Given the description of an element on the screen output the (x, y) to click on. 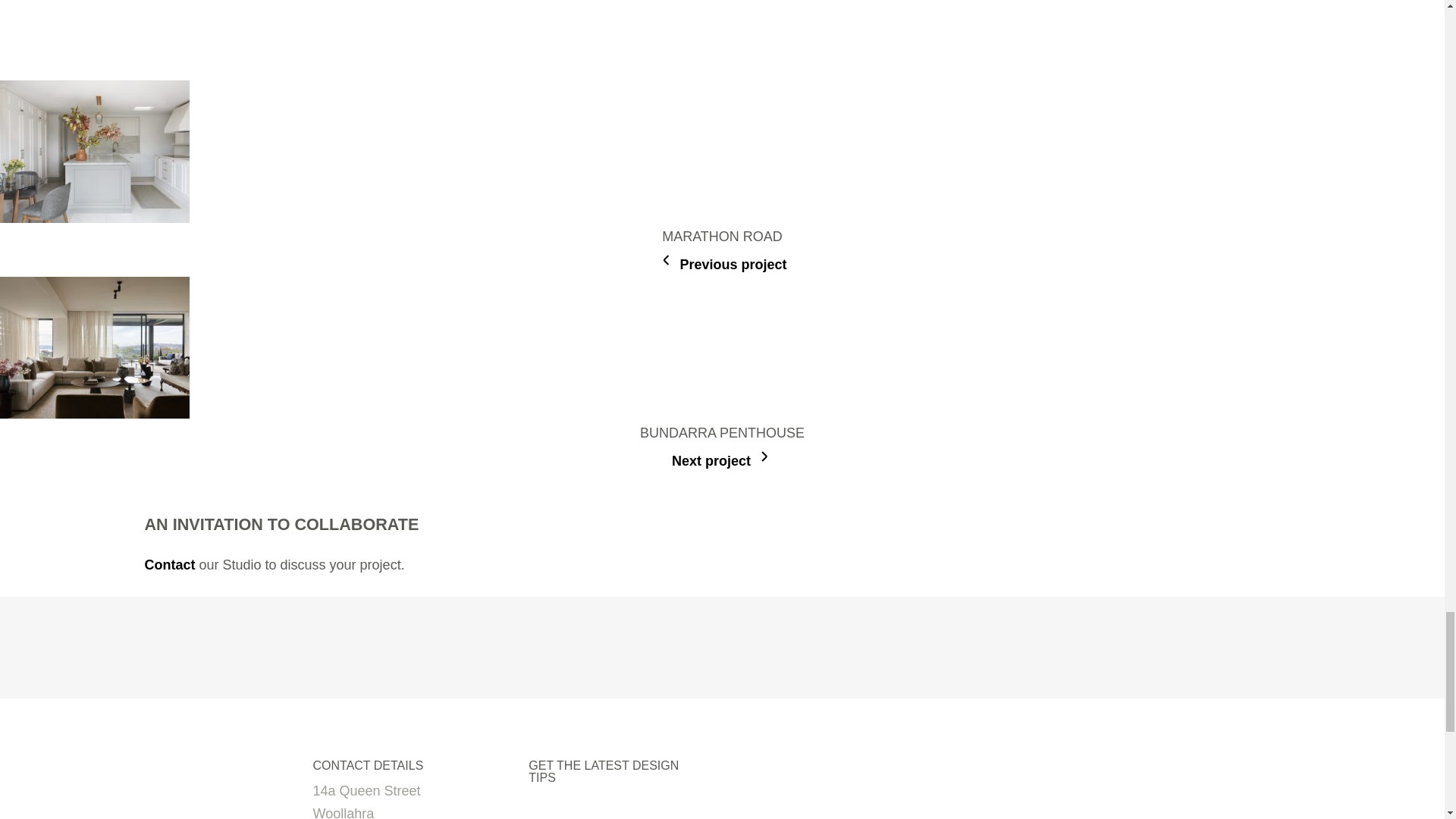
Contact (169, 564)
